Given the description of an element on the screen output the (x, y) to click on. 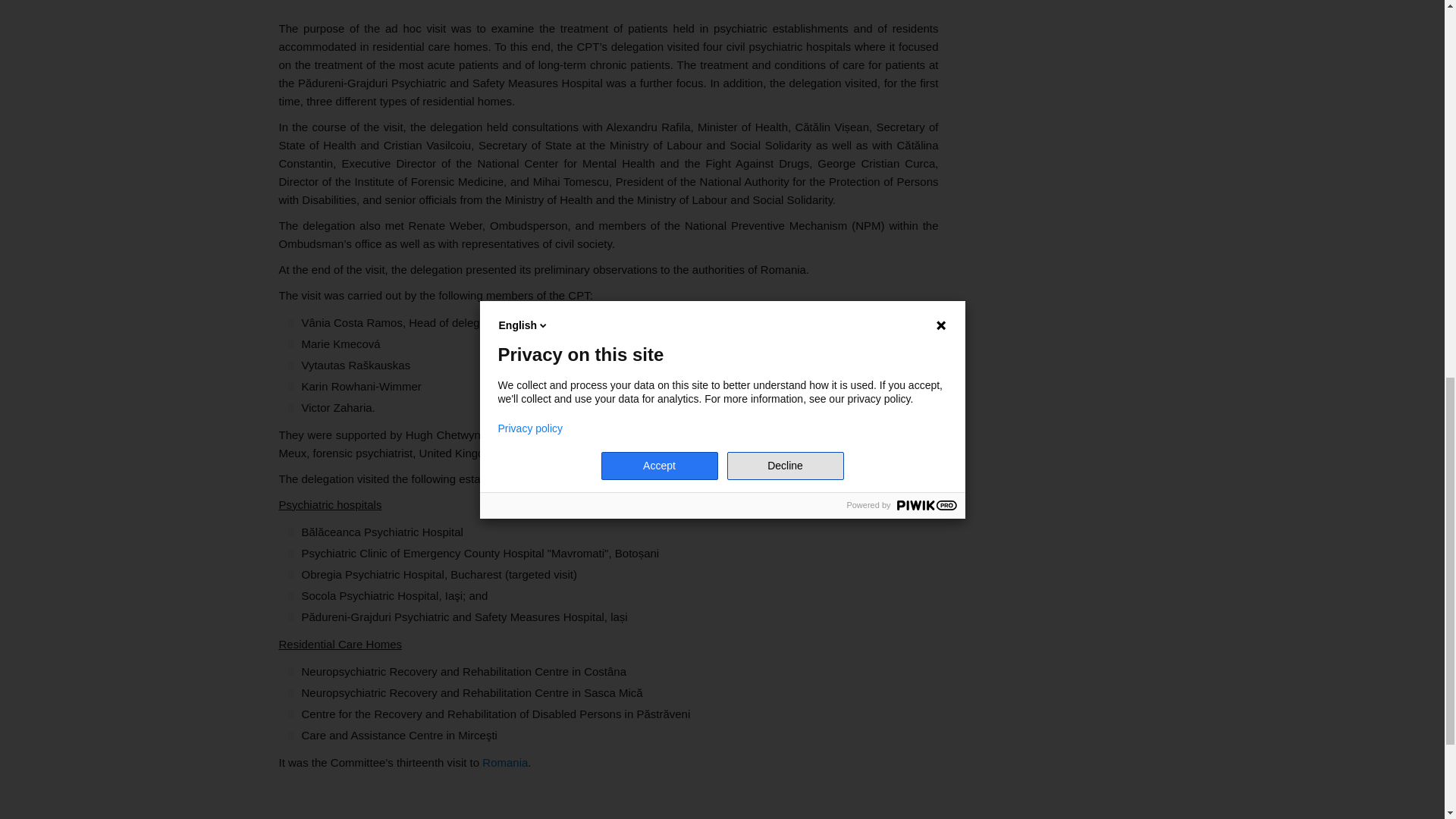
Facebook (290, 802)
Twitter (312, 802)
